Given the description of an element on the screen output the (x, y) to click on. 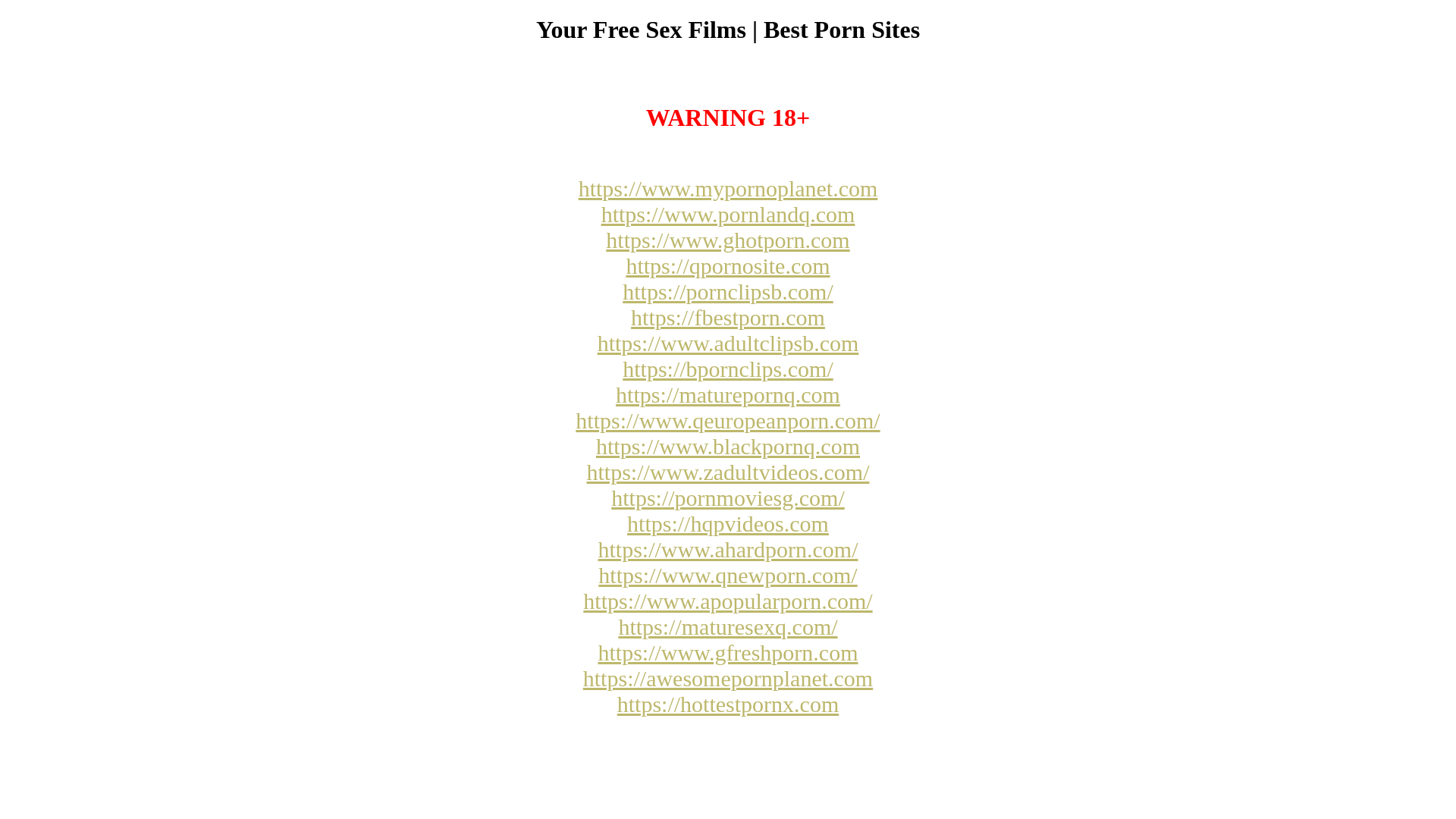
https://www.apopularporn.com/ Element type: text (727, 600)
https://maturepornq.com Element type: text (727, 394)
https://hottestpornx.com Element type: text (728, 703)
https://www.ghotporn.com Element type: text (727, 239)
https://www.adultclipsb.com Element type: text (728, 342)
https://qpornosite.com Element type: text (727, 265)
https://maturesexq.com/ Element type: text (727, 626)
https://www.qnewporn.com/ Element type: text (727, 574)
https://pornclipsb.com/ Element type: text (727, 291)
https://www.pornlandq.com Element type: text (728, 213)
https://bpornclips.com/ Element type: text (727, 368)
https://awesomepornplanet.com Element type: text (727, 677)
https://www.ahardporn.com/ Element type: text (727, 548)
https://www.blackpornq.com Element type: text (727, 445)
https://hqpvideos.com Element type: text (727, 523)
https://www.qeuropeanporn.com/ Element type: text (727, 420)
https://pornmoviesg.com/ Element type: text (727, 497)
https://www.gfreshporn.com Element type: text (727, 652)
https://www.mypornoplanet.com Element type: text (728, 187)
https://fbestporn.com Element type: text (727, 316)
https://www.zadultvideos.com/ Element type: text (727, 471)
